Given the description of an element on the screen output the (x, y) to click on. 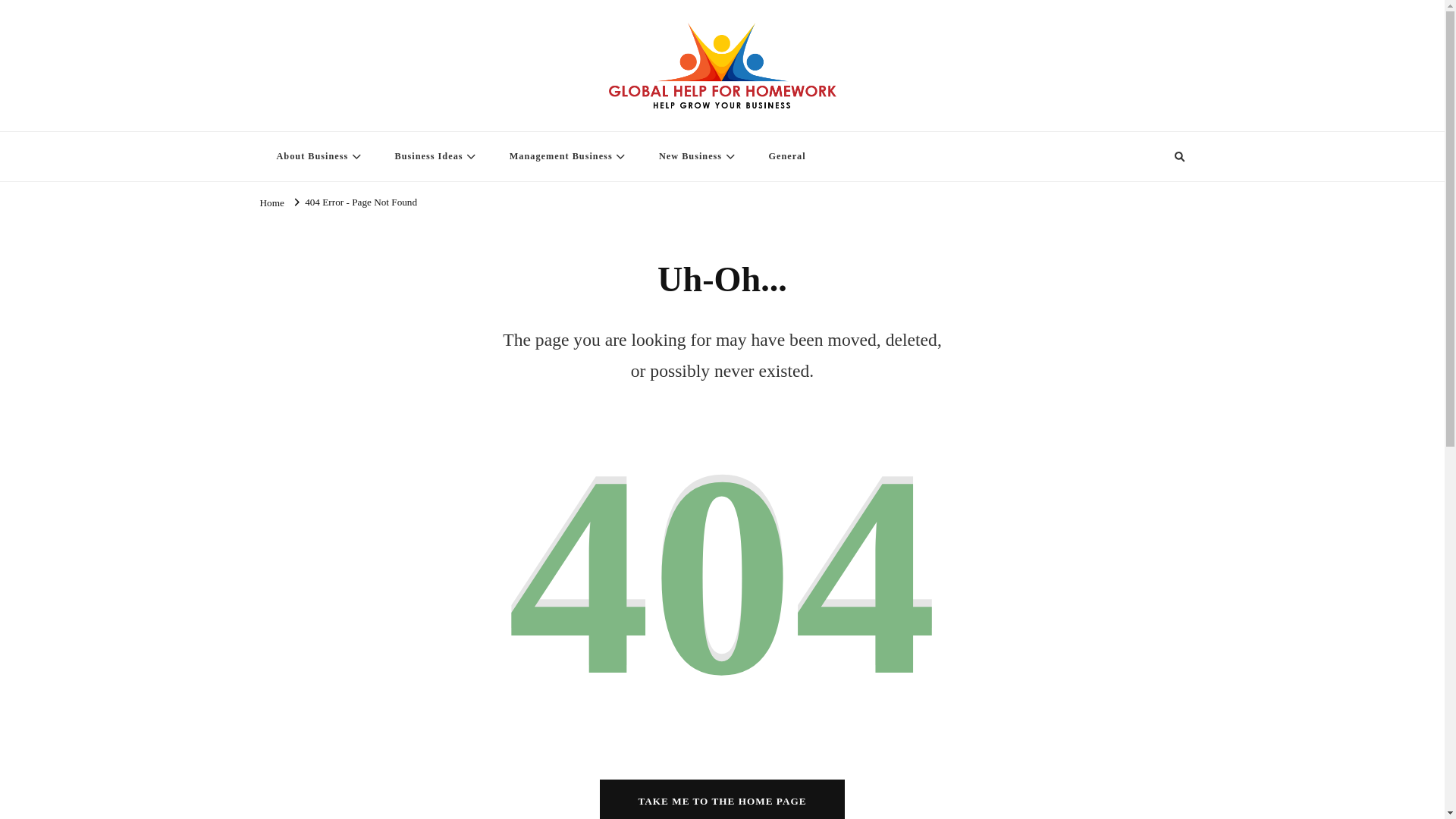
Global Help For Homework (387, 121)
About Business (316, 155)
Search (1151, 157)
New Business (695, 155)
General (786, 155)
Business Ideas (433, 155)
Management Business (566, 155)
TAKE ME TO THE HOME PAGE (721, 799)
Home (271, 201)
